Given the description of an element on the screen output the (x, y) to click on. 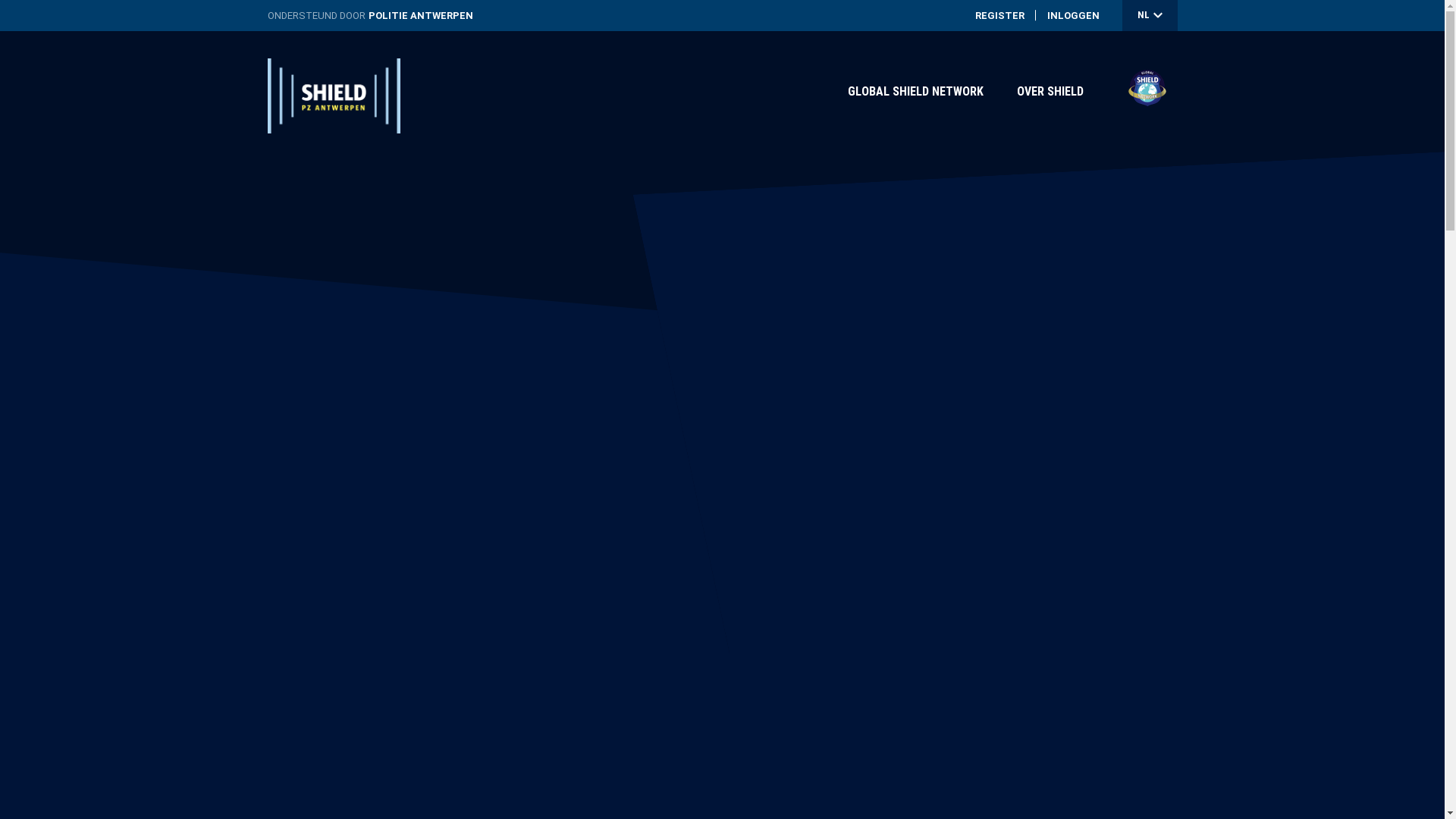
INLOGGEN Element type: text (1072, 15)
OVER SHIELD Element type: text (1049, 91)
Skip to main content Element type: text (0, 0)
GLOBAL SHIELD NETWORK Element type: text (915, 91)
POLITIE ANTWERPEN Element type: text (420, 15)
REGISTER Element type: text (999, 15)
Home Element type: hover (332, 90)
